Given the description of an element on the screen output the (x, y) to click on. 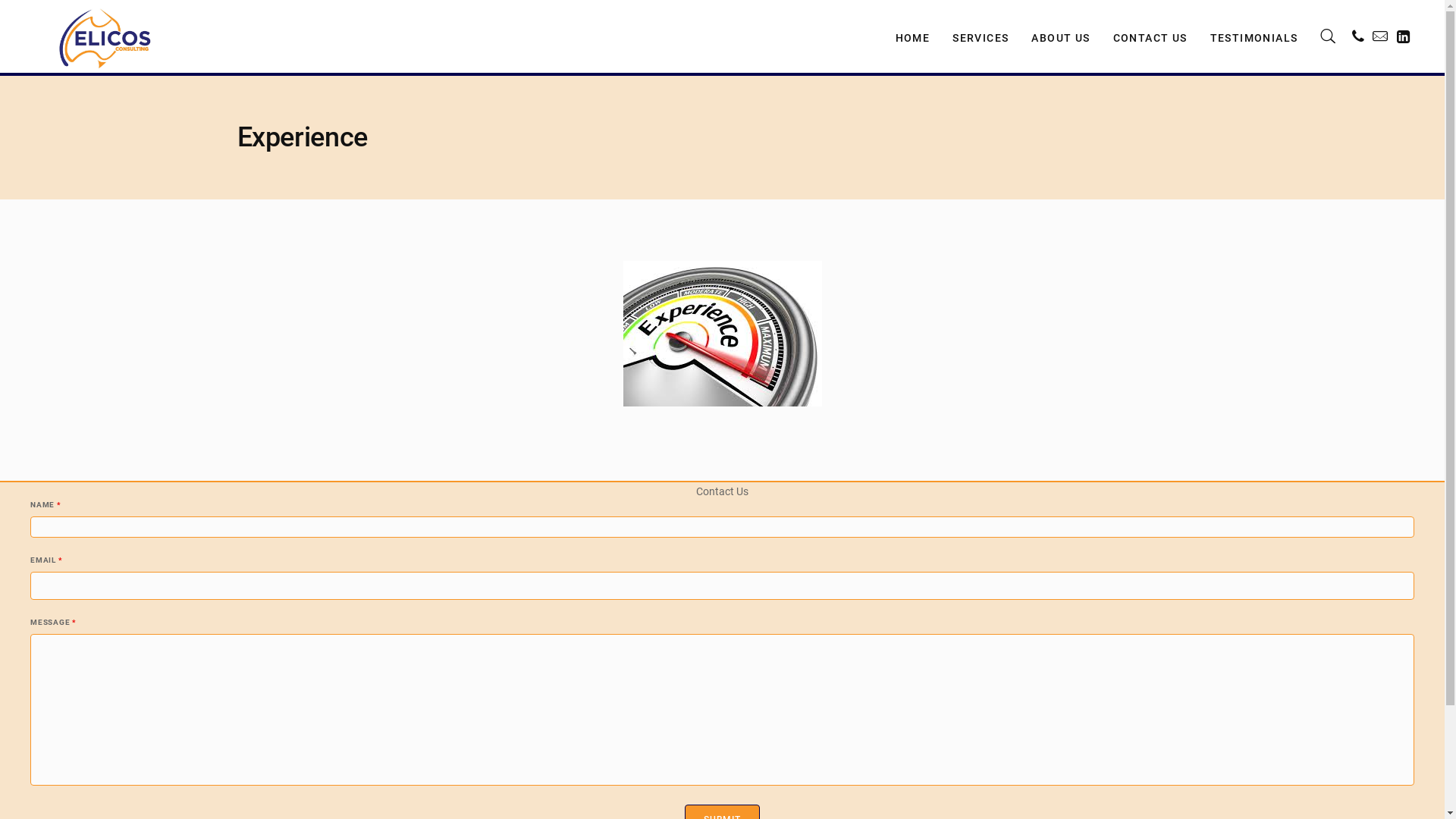
TESTIMONIALS Element type: text (1253, 36)
ABOUT US Element type: text (1060, 36)
CONTACT US Element type: text (1149, 36)
SERVICES Element type: text (980, 36)
HOME Element type: text (912, 36)
